Given the description of an element on the screen output the (x, y) to click on. 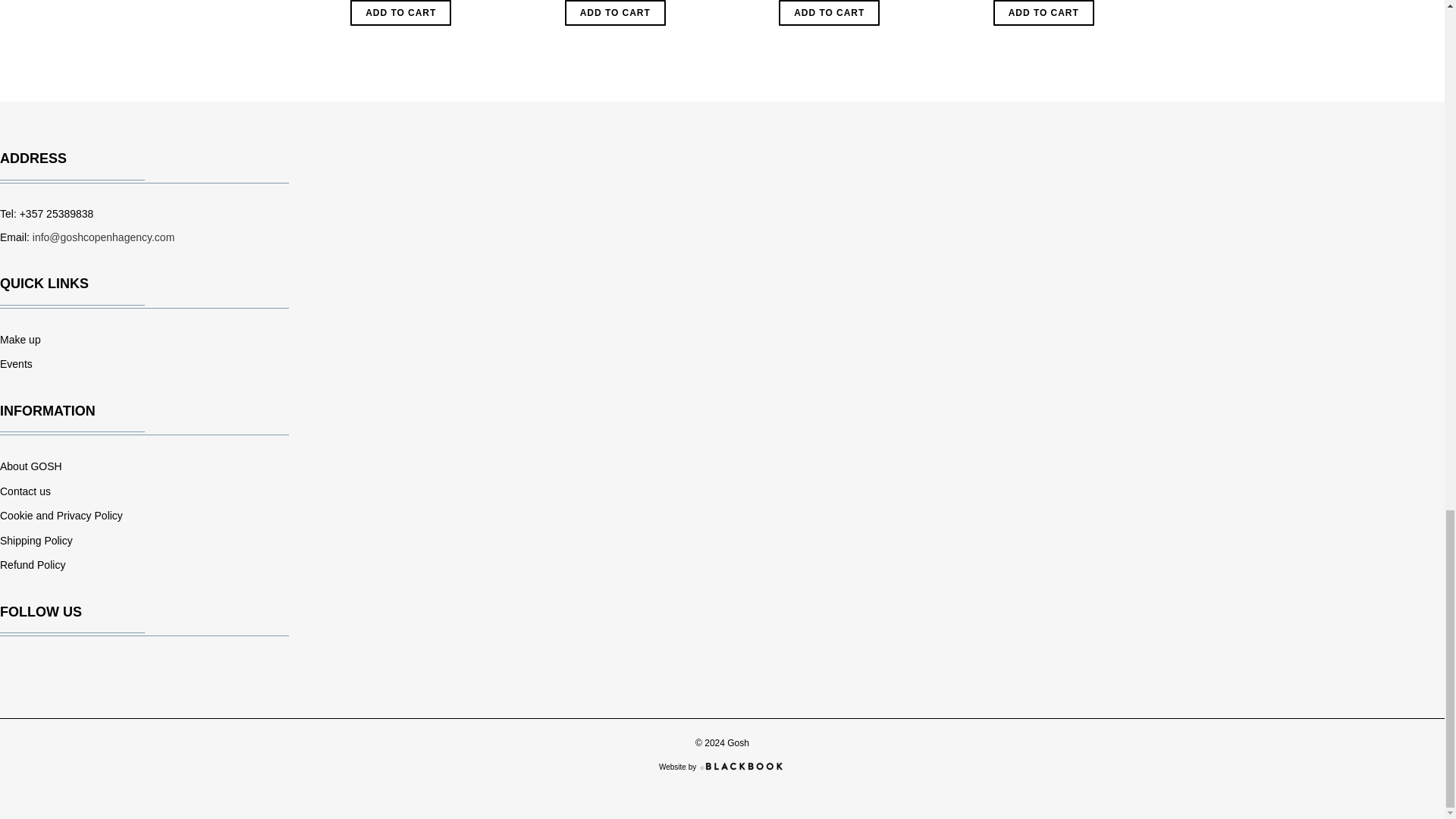
Add to cart (400, 12)
Add to cart (828, 12)
Add to cart (1043, 12)
Add to cart (614, 12)
